Given the description of an element on the screen output the (x, y) to click on. 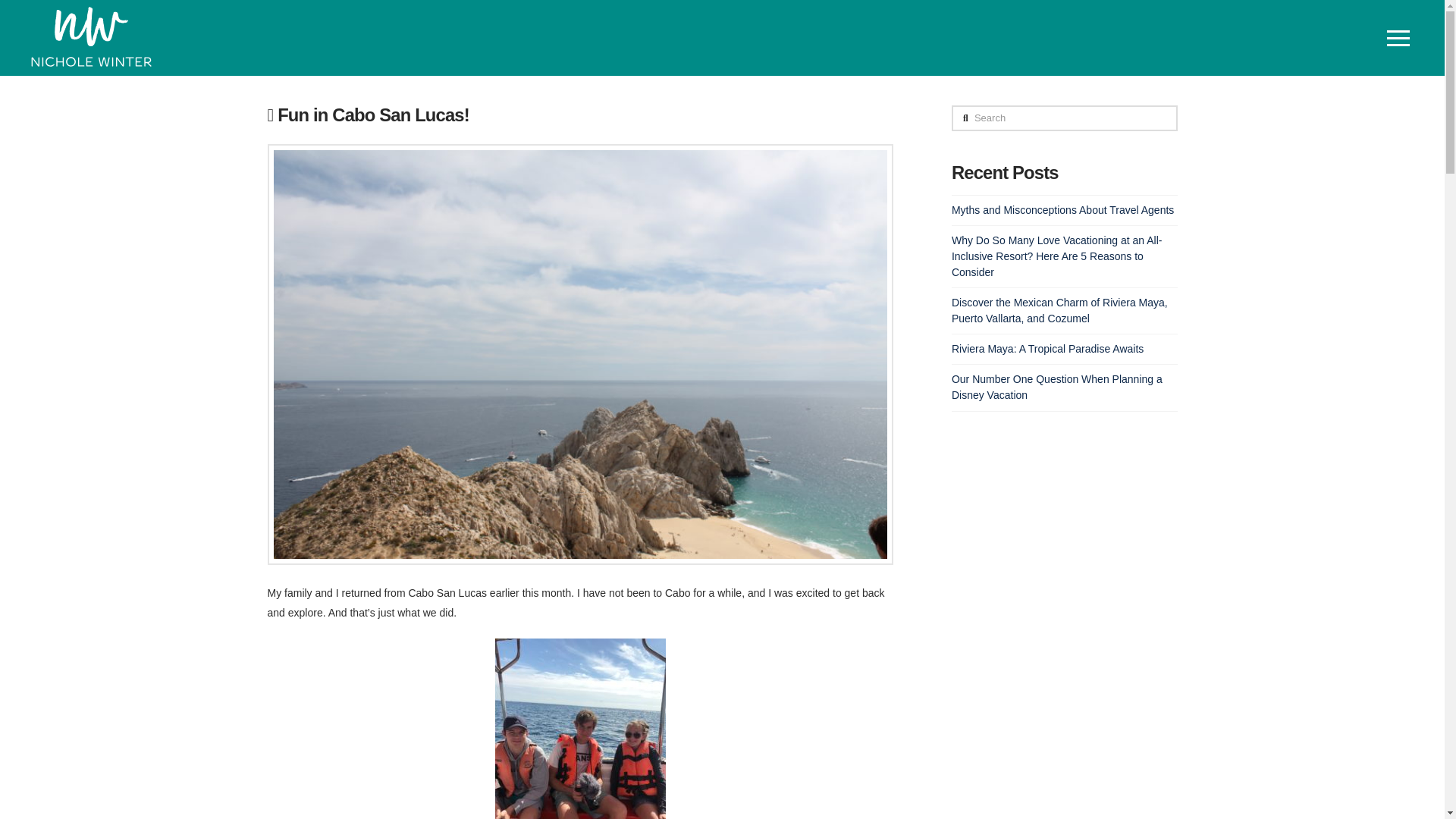
Our Number One Question When Planning a Disney Vacation (1056, 387)
Riviera Maya: A Tropical Paradise Awaits (1047, 348)
Myths and Misconceptions About Travel Agents (1062, 209)
